Given the description of an element on the screen output the (x, y) to click on. 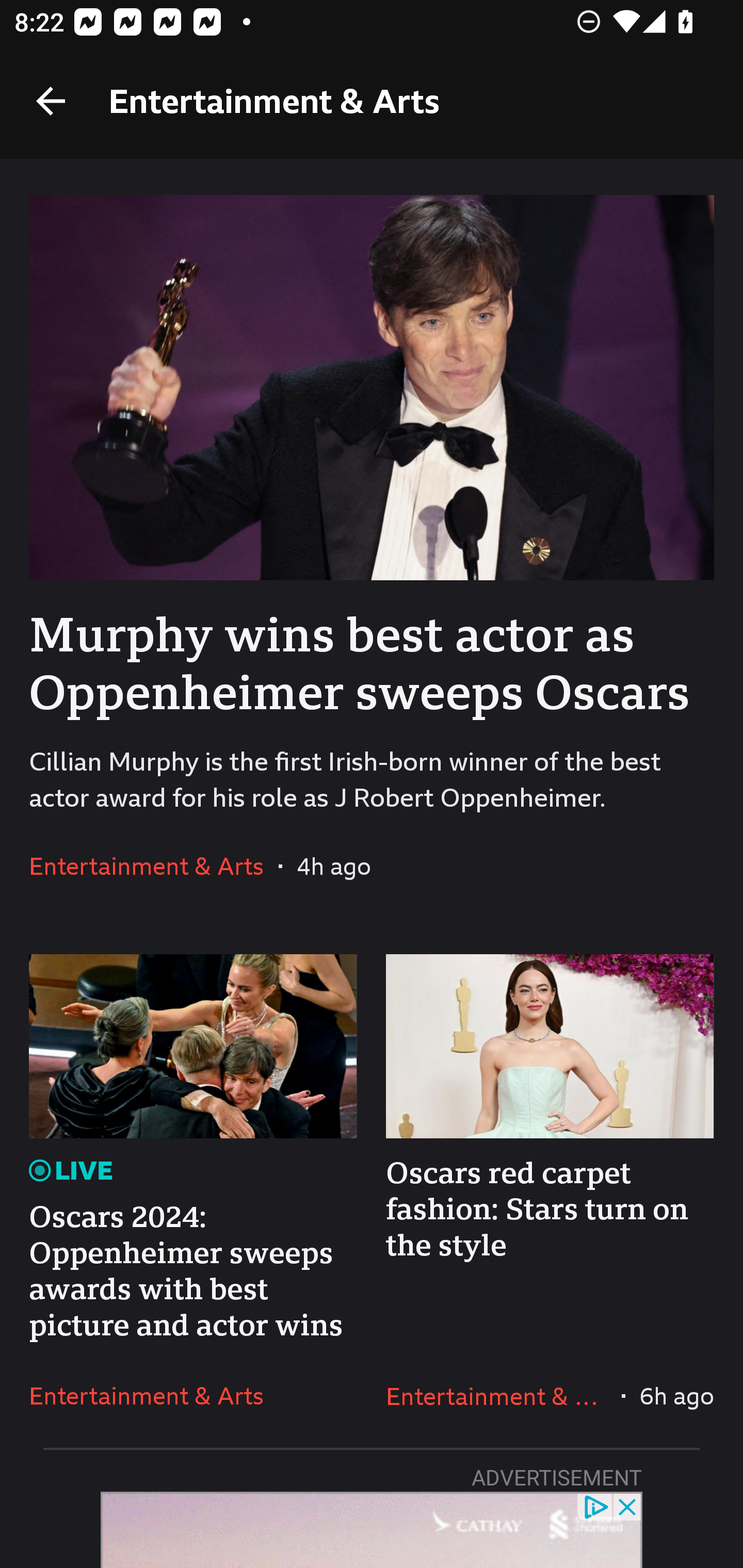
Back (50, 101)
